Given the description of an element on the screen output the (x, y) to click on. 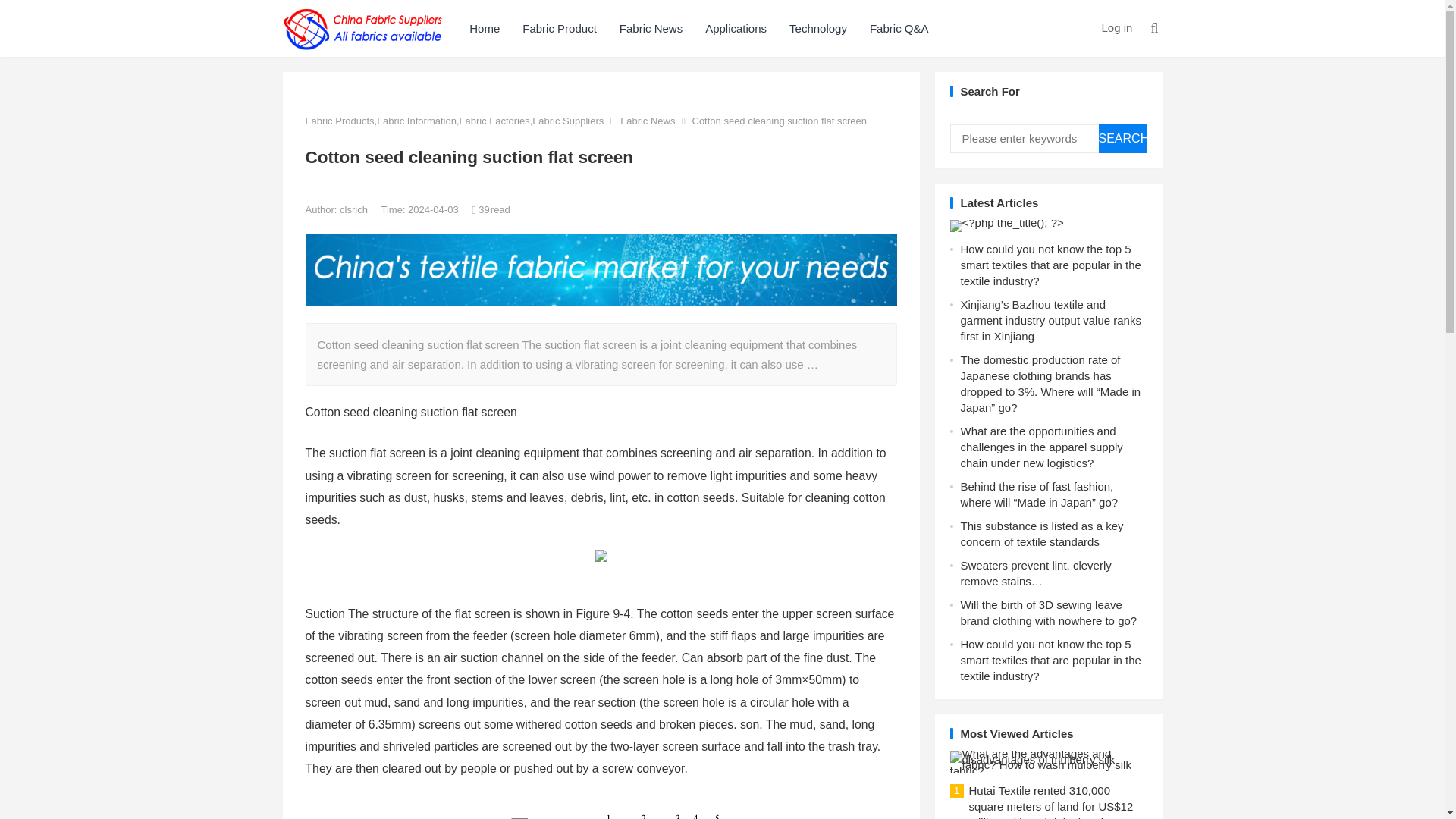
Fabric Product (559, 28)
Applications (735, 28)
Technology (818, 28)
Fabric News (651, 28)
Log in (1116, 27)
Home (484, 28)
